Given the description of an element on the screen output the (x, y) to click on. 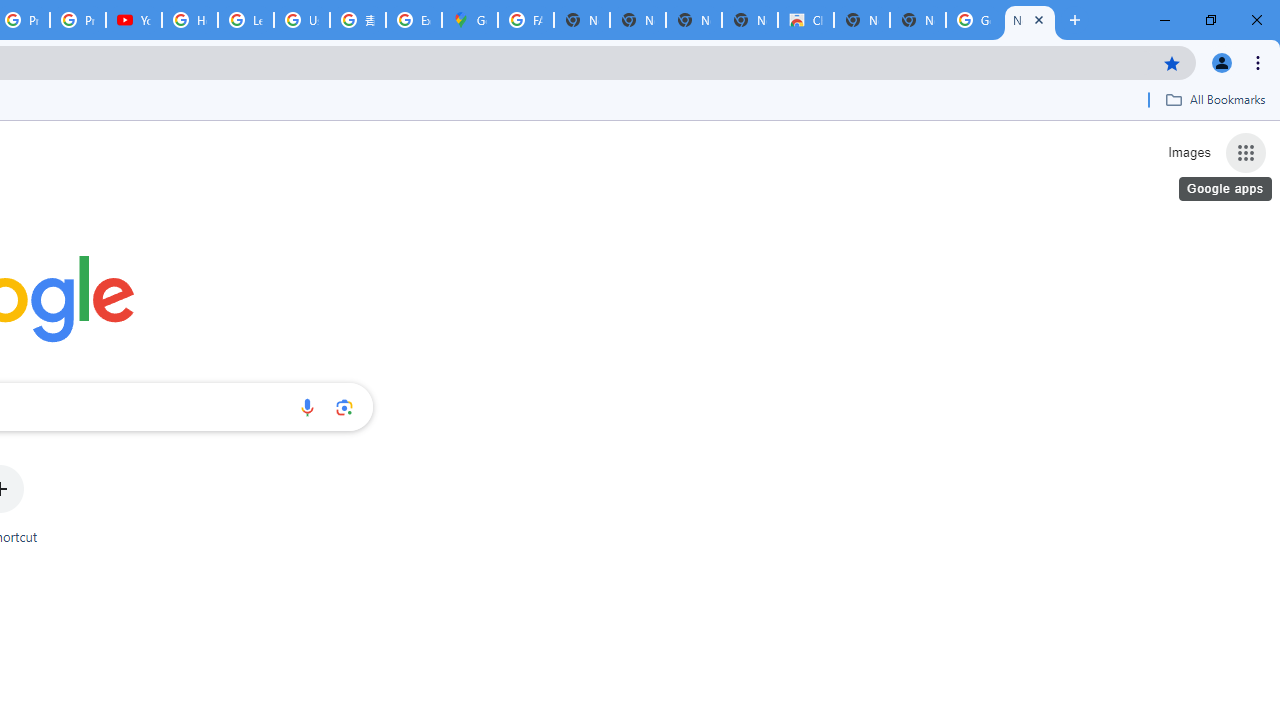
New Tab (1030, 20)
Google Images (973, 20)
Privacy Checkup (77, 20)
How Chrome protects your passwords - Google Chrome Help (189, 20)
Google Maps (469, 20)
